Given the description of an element on the screen output the (x, y) to click on. 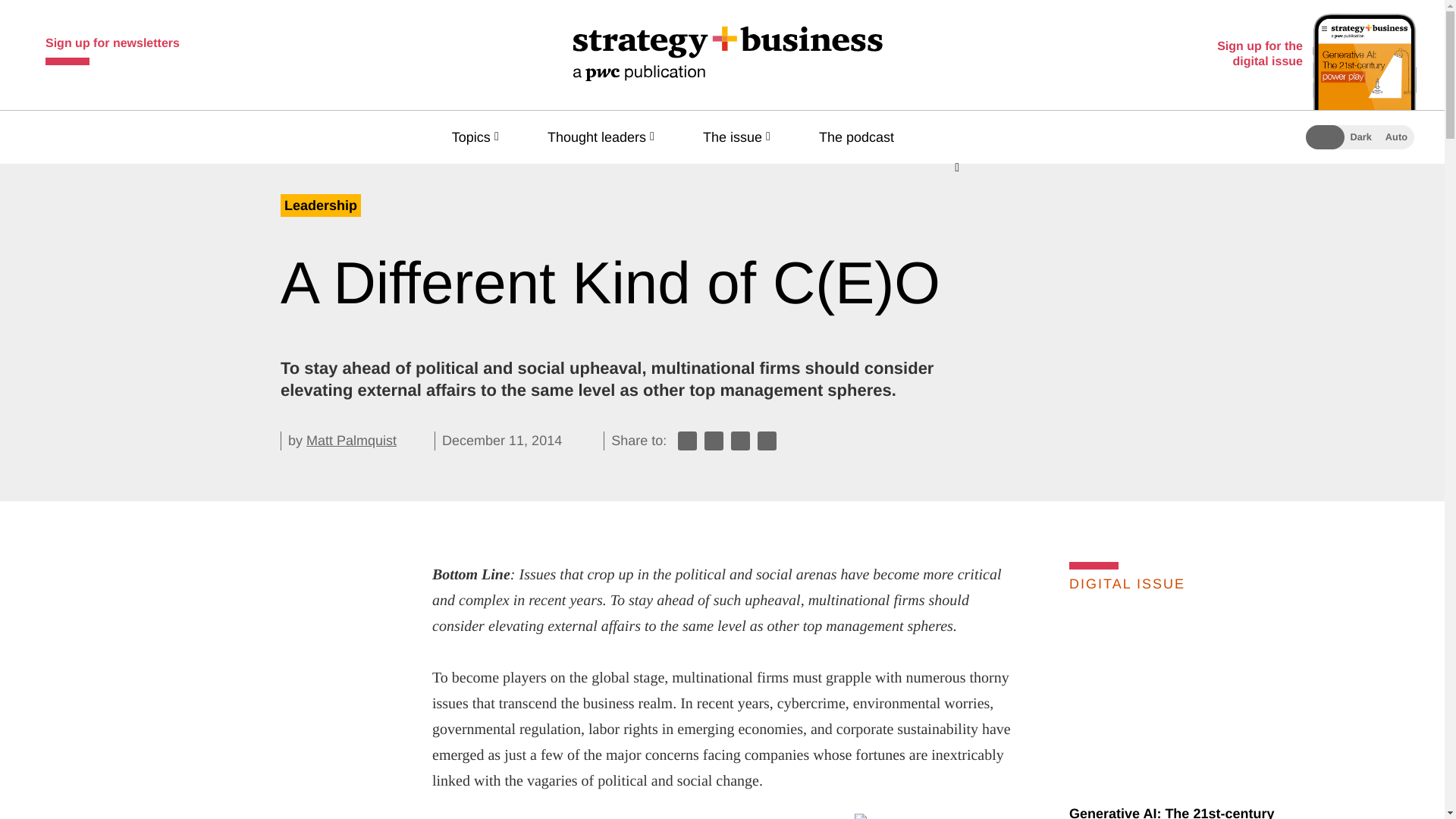
Topics (478, 136)
Sign up for newsletters (112, 47)
Thought leaders (604, 136)
The issue (740, 136)
Sign up for the digital issue (1313, 54)
Latest issue  (1193, 701)
The podcast (863, 136)
Illustration of flying birds delivering information (1033, 816)
A collection of topics for thought leaders (604, 136)
